Given the description of an element on the screen output the (x, y) to click on. 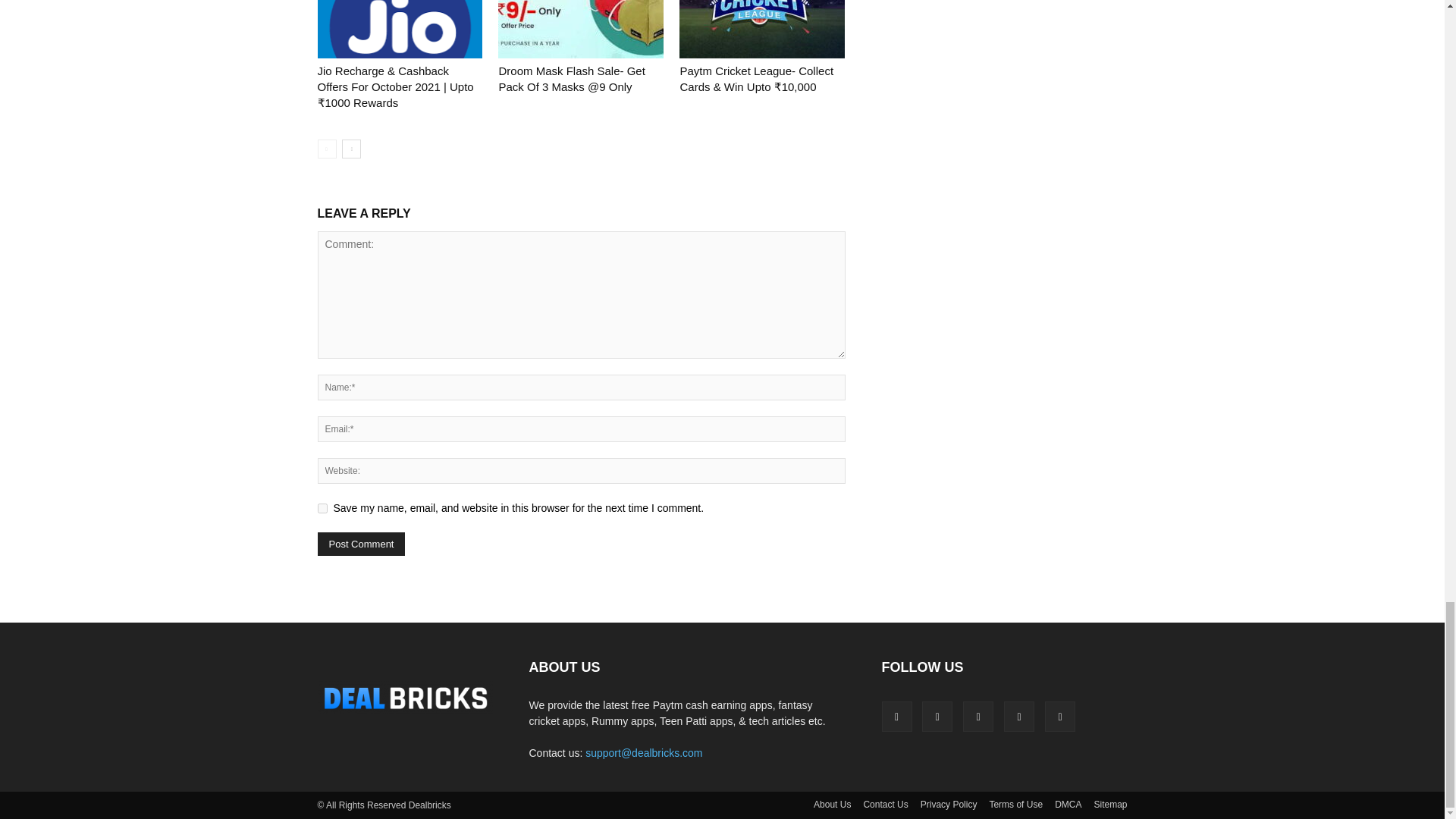
yes (321, 508)
Post Comment (360, 544)
